Given the description of an element on the screen output the (x, y) to click on. 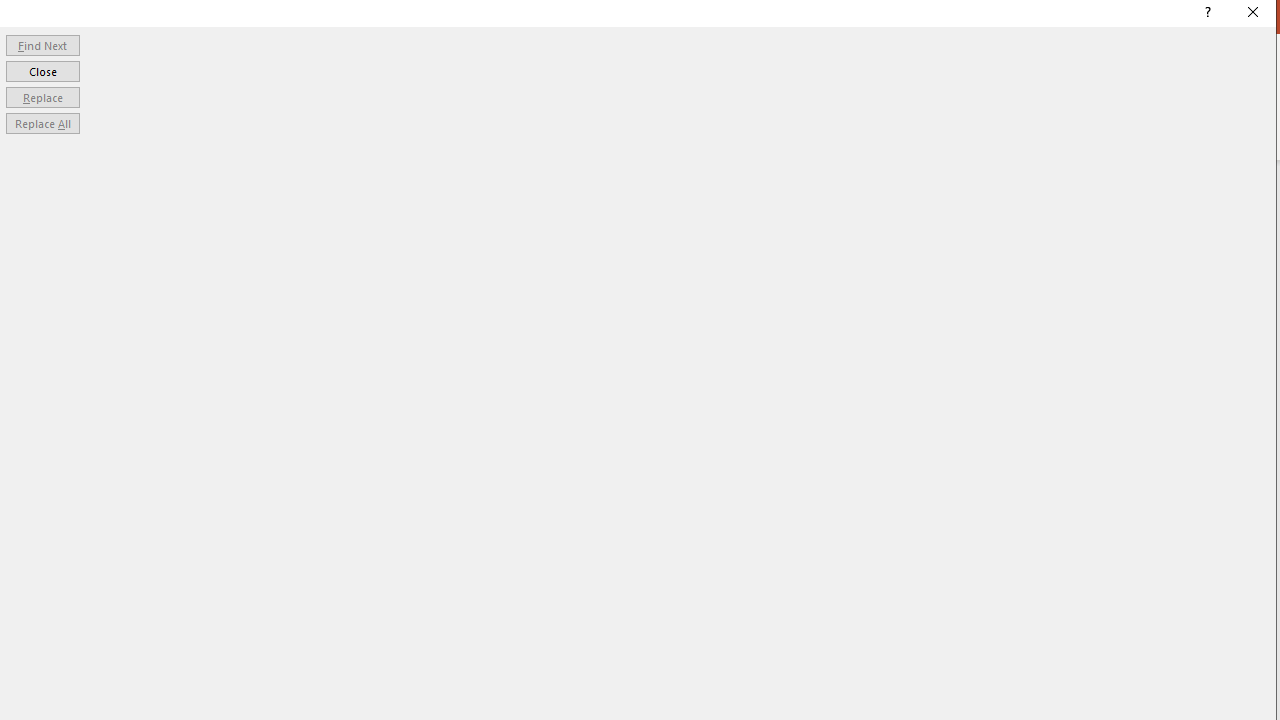
Find Next (42, 44)
Replace (42, 96)
Context help (1206, 14)
Replace All (42, 123)
